Given the description of an element on the screen output the (x, y) to click on. 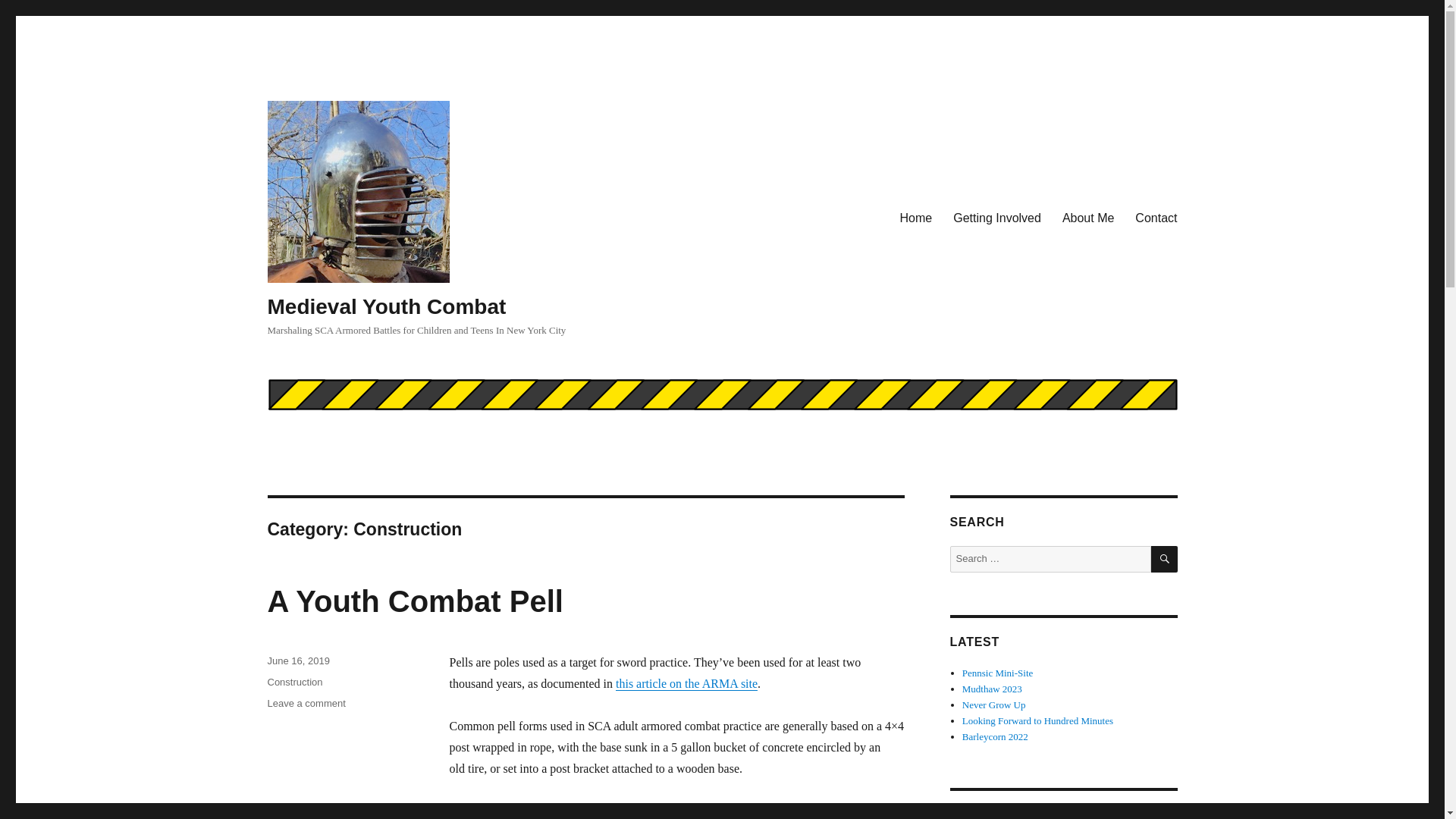
Medieval Youth Combat (385, 306)
SEARCH (1164, 559)
this article on the ARMA site (305, 703)
Pennsic Mini-Site (686, 683)
A Youth Combat Pell (997, 672)
Getting Involved (414, 601)
About Me (996, 218)
Home (1087, 218)
June 16, 2019 (916, 218)
Contact (297, 660)
Mudthaw 2023 (1156, 218)
Construction (992, 688)
